Given the description of an element on the screen output the (x, y) to click on. 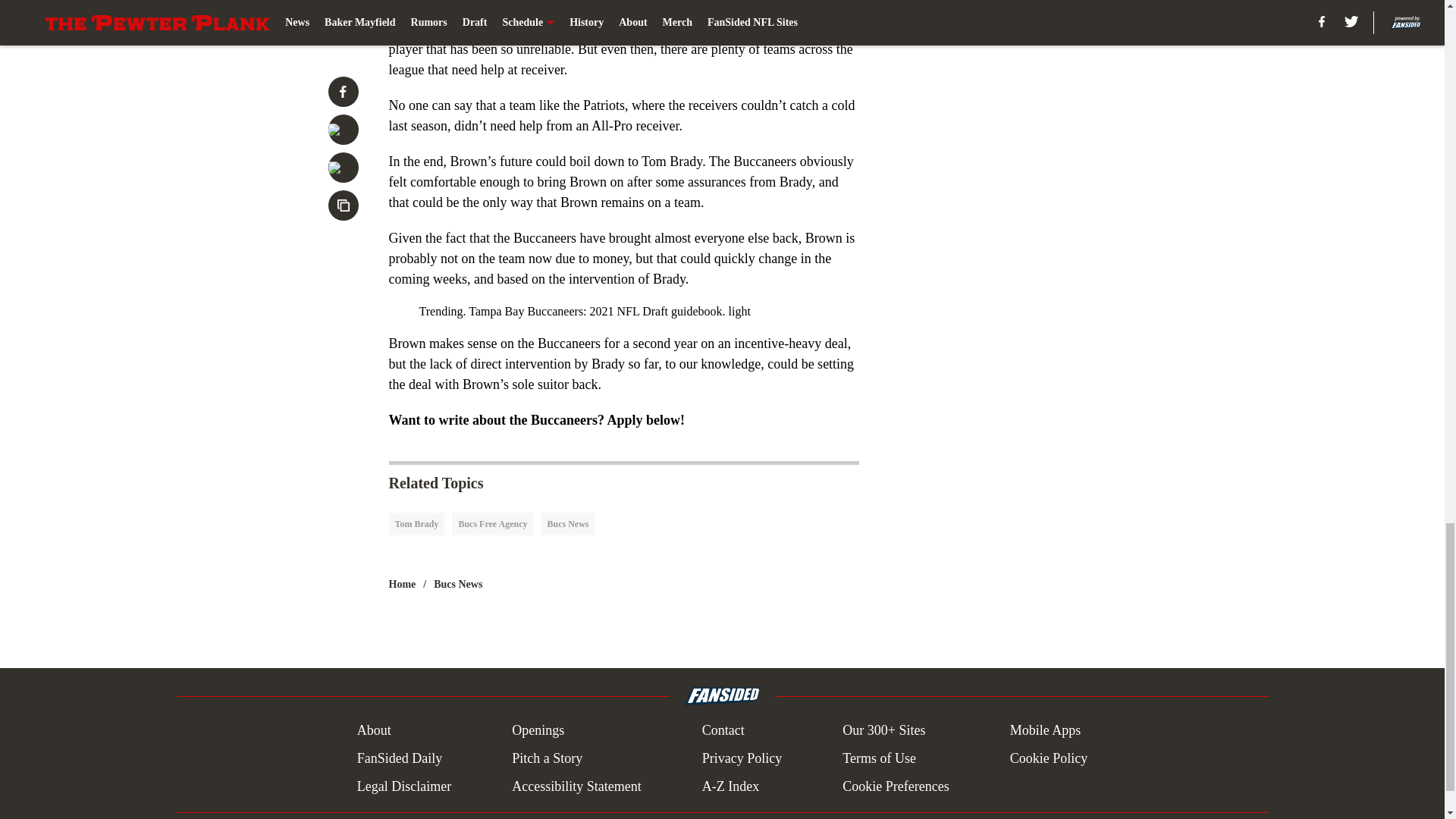
A-Z Index (729, 786)
Bucs News (568, 523)
Cookie Policy (1048, 758)
Bucs Free Agency (491, 523)
Tom Brady (416, 523)
FanSided Daily (399, 758)
Pitch a Story (547, 758)
Legal Disclaimer (403, 786)
Accessibility Statement (576, 786)
Contact (722, 730)
